Given the description of an element on the screen output the (x, y) to click on. 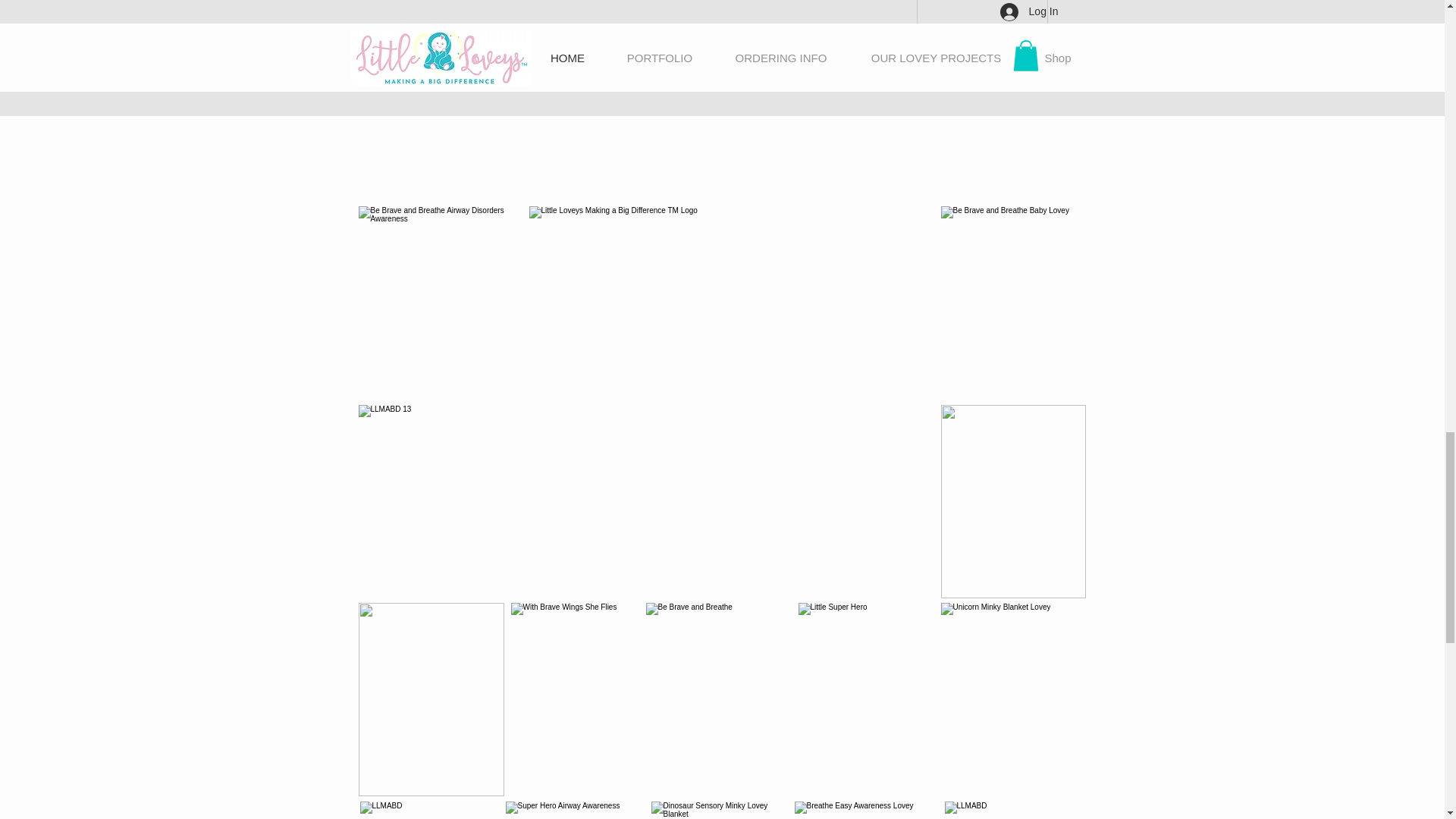
Awareness Ribbon Warrior Custom Blanket Lovey (861, 2)
Dinosaur Sensory (719, 810)
BraveBaby with Airway Awareness (1012, 2)
Baby Butterfly Minky Lovey Blanket (430, 2)
Breathe Easy Awareness Lovey (866, 810)
Super Heo Airway Awareness (575, 810)
Lamb Lovey Blanket Snuggle (579, 2)
Adorable Baby with Custom Lovey Blanket (720, 2)
